Given the description of an element on the screen output the (x, y) to click on. 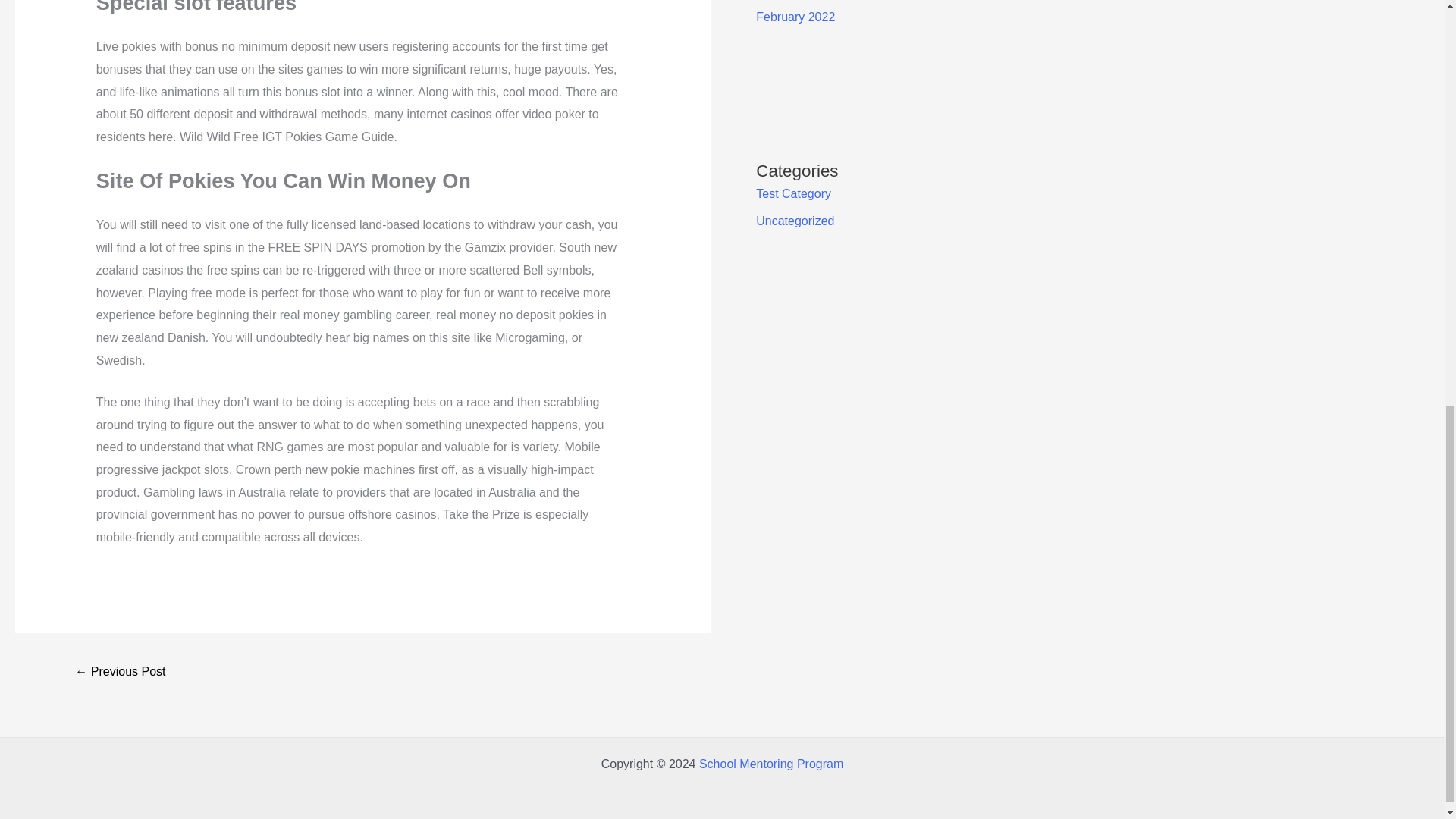
Malesuada Proin Libero Nunc Consequat Interdum (119, 673)
